Given the description of an element on the screen output the (x, y) to click on. 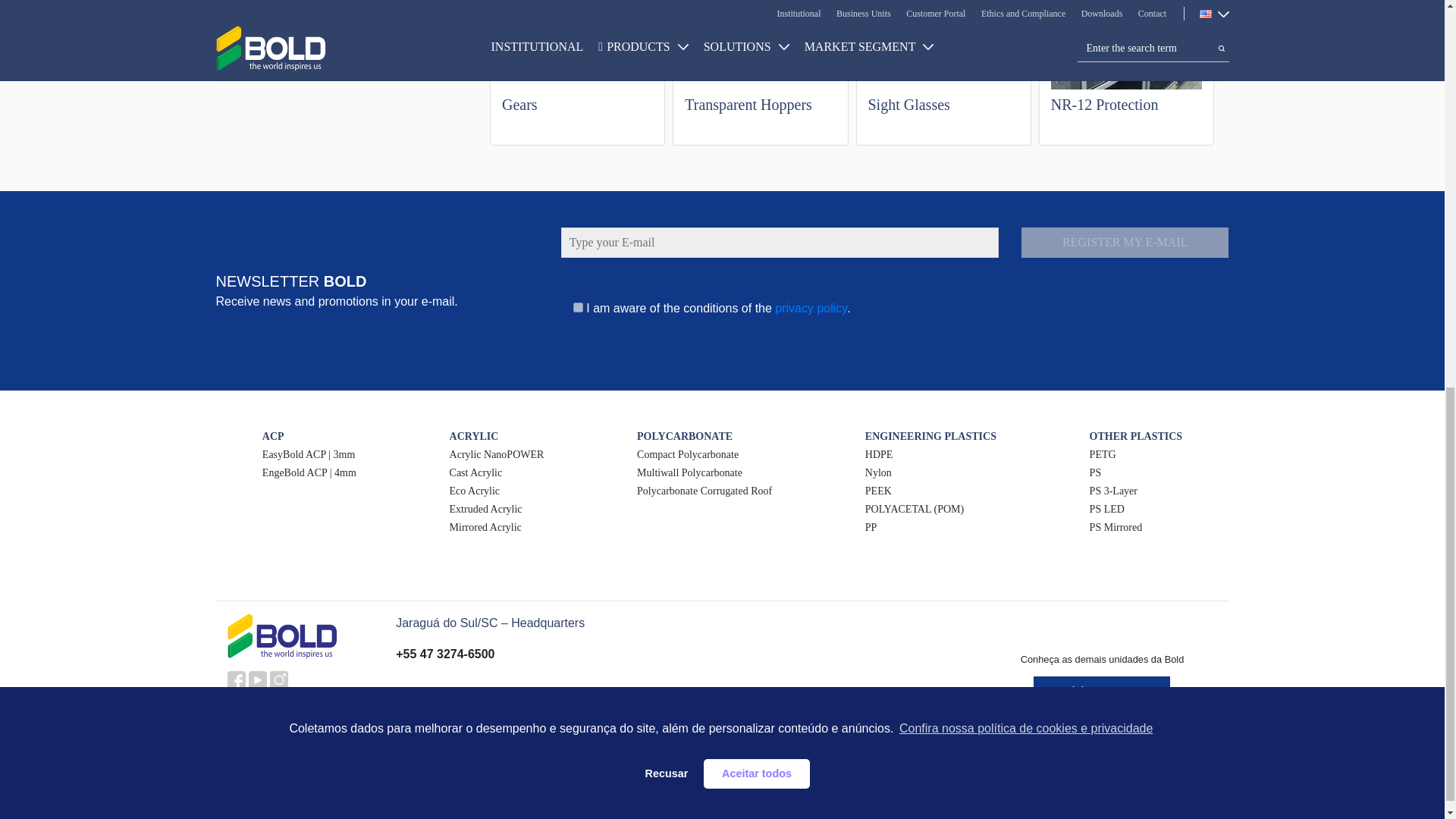
en (300, 680)
Register my E-mail (1125, 242)
1 (578, 307)
